Given the description of an element on the screen output the (x, y) to click on. 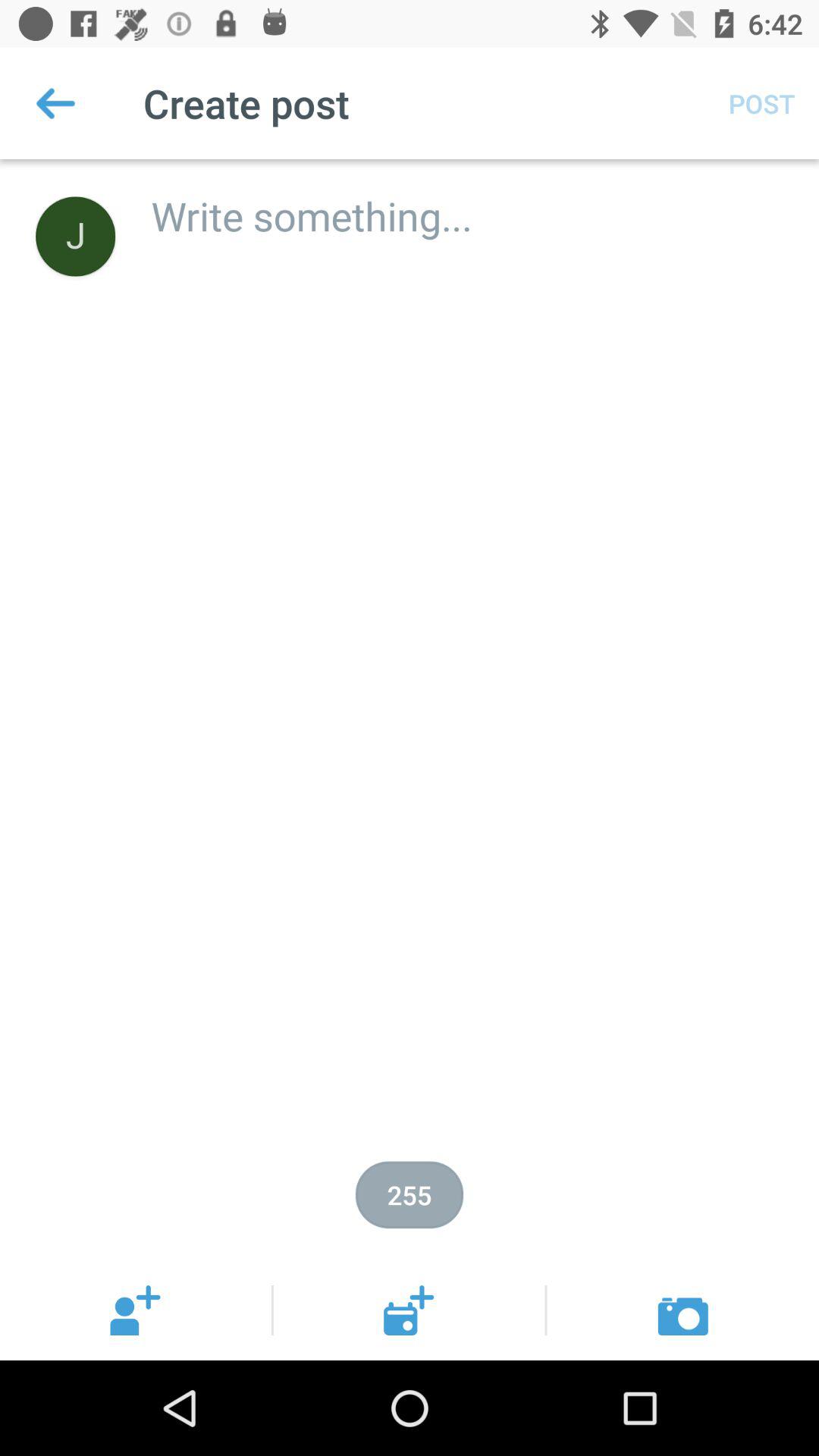
launch the icon above 255 item (469, 200)
